Given the description of an element on the screen output the (x, y) to click on. 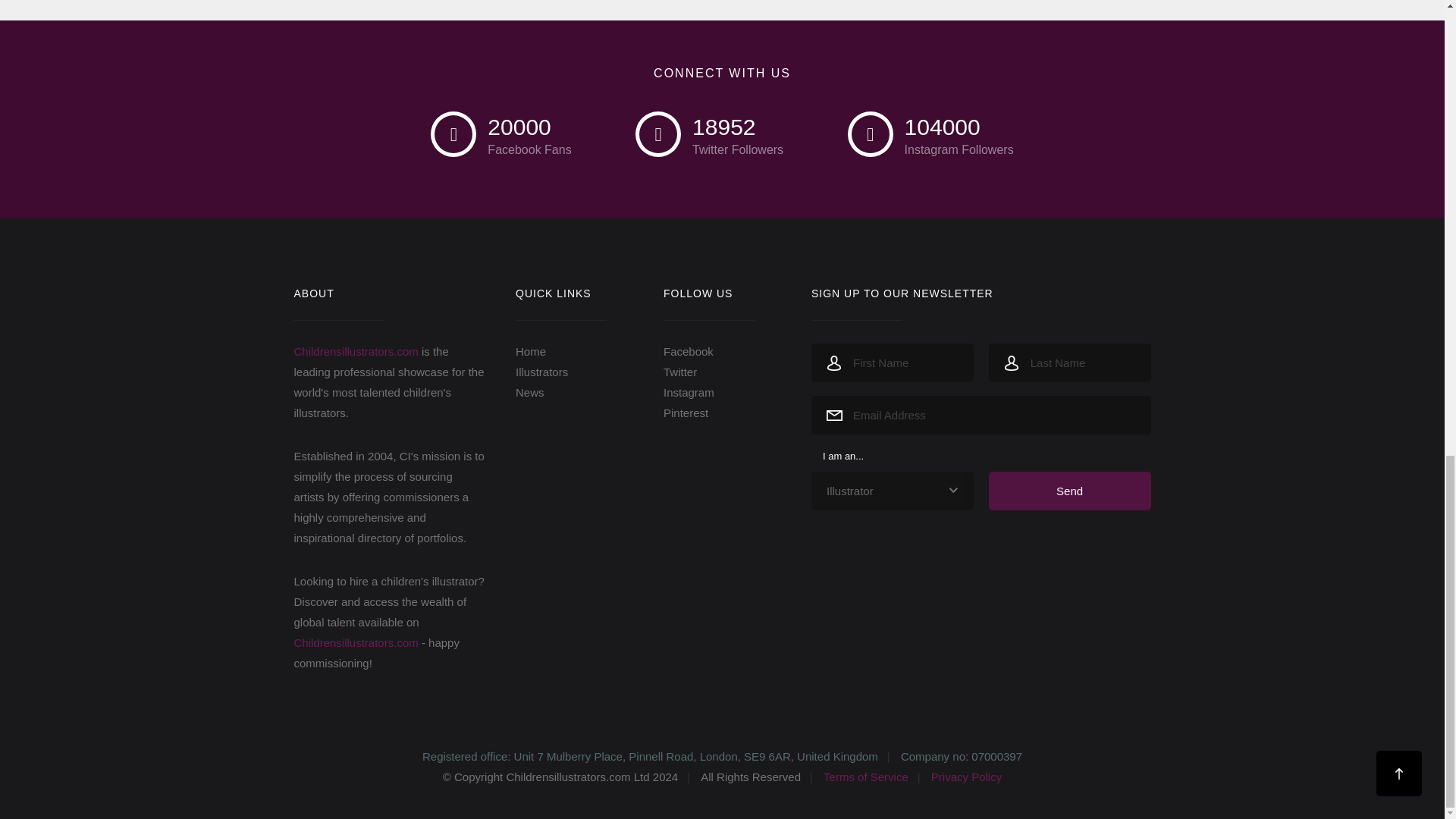
Send (1069, 490)
